Given the description of an element on the screen output the (x, y) to click on. 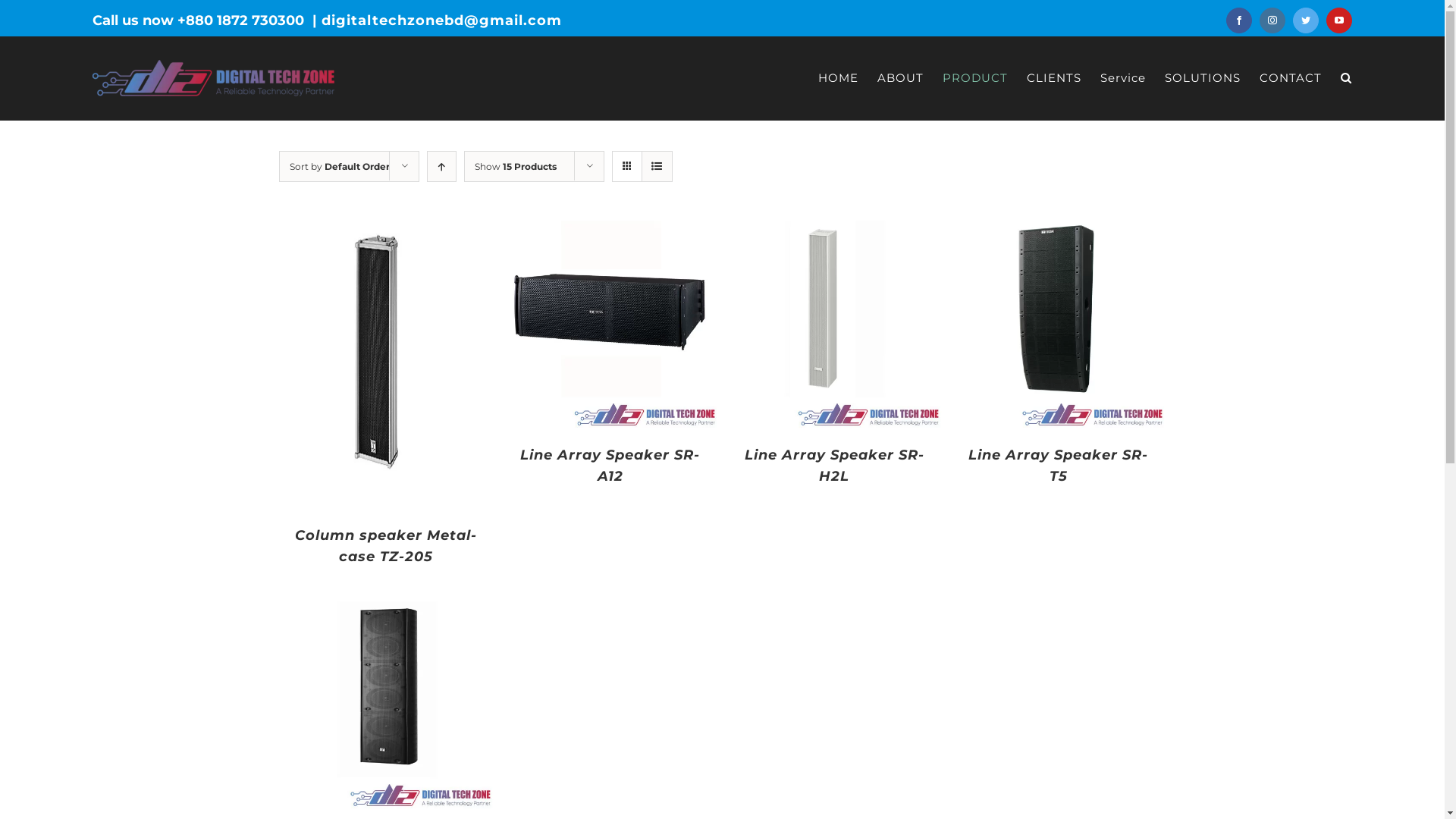
Column speaker Metal-case TZ-205 Element type: text (385, 545)
Service Element type: text (1122, 78)
Sort by Default Order Element type: text (339, 166)
CLIENTS Element type: text (1053, 78)
YouTube Element type: text (1339, 20)
Instagram Element type: text (1272, 20)
ABOUT Element type: text (900, 78)
CONTACT Element type: text (1290, 78)
Facebook Element type: text (1239, 20)
Twitter Element type: text (1305, 20)
SOLUTIONS Element type: text (1202, 78)
Show 15 Products Element type: text (515, 166)
Line Array Speaker SR-T5 Element type: text (1058, 465)
Search Element type: hover (1346, 78)
digitaltechzonebd@gmail.com Element type: text (441, 20)
HOME Element type: text (838, 78)
PRODUCT Element type: text (974, 78)
Line Array Speaker SR-A12 Element type: text (609, 465)
Line Array Speaker SR-H2L Element type: text (834, 465)
